Given the description of an element on the screen output the (x, y) to click on. 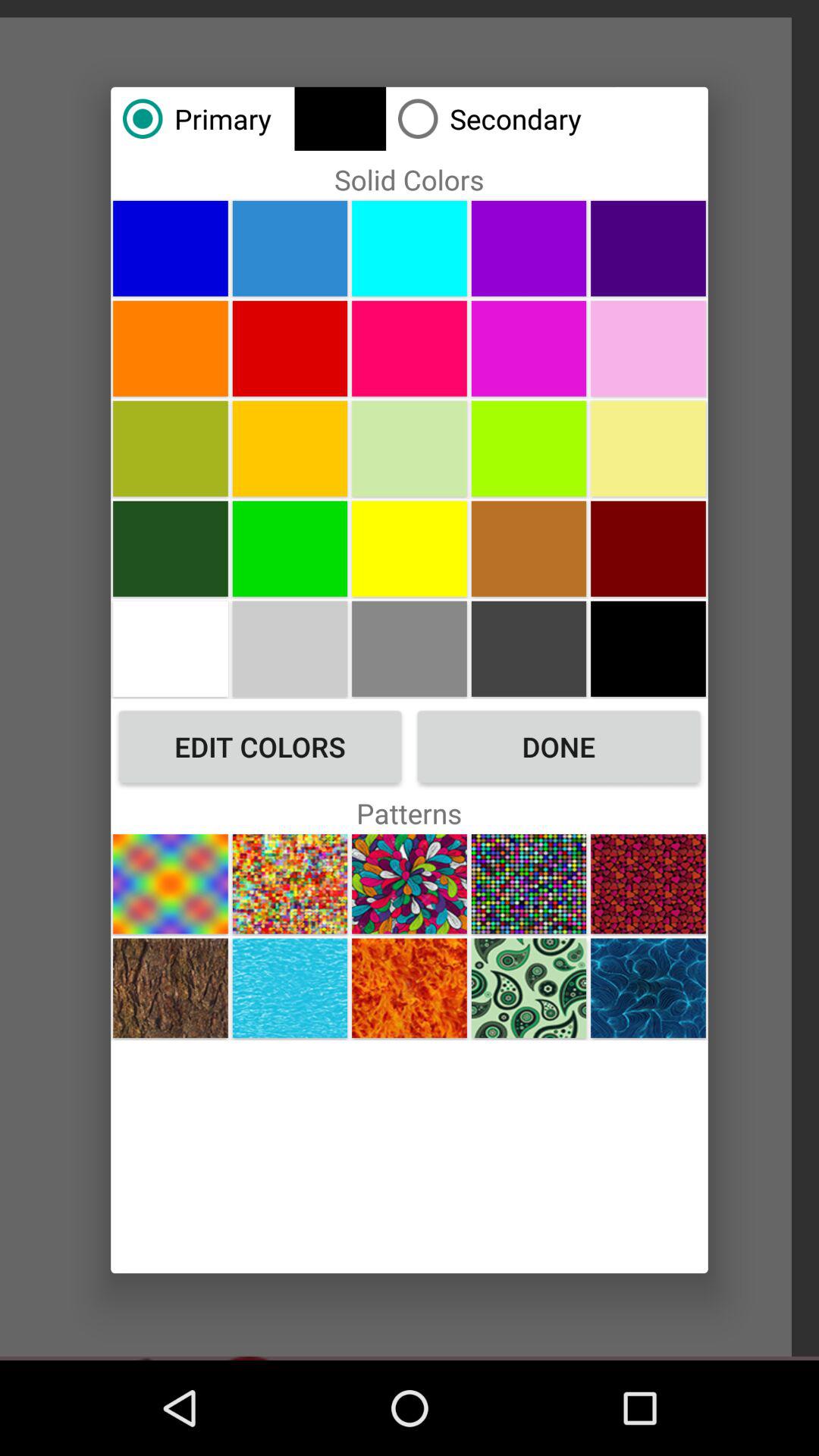
select a pattern (647, 987)
